Given the description of an element on the screen output the (x, y) to click on. 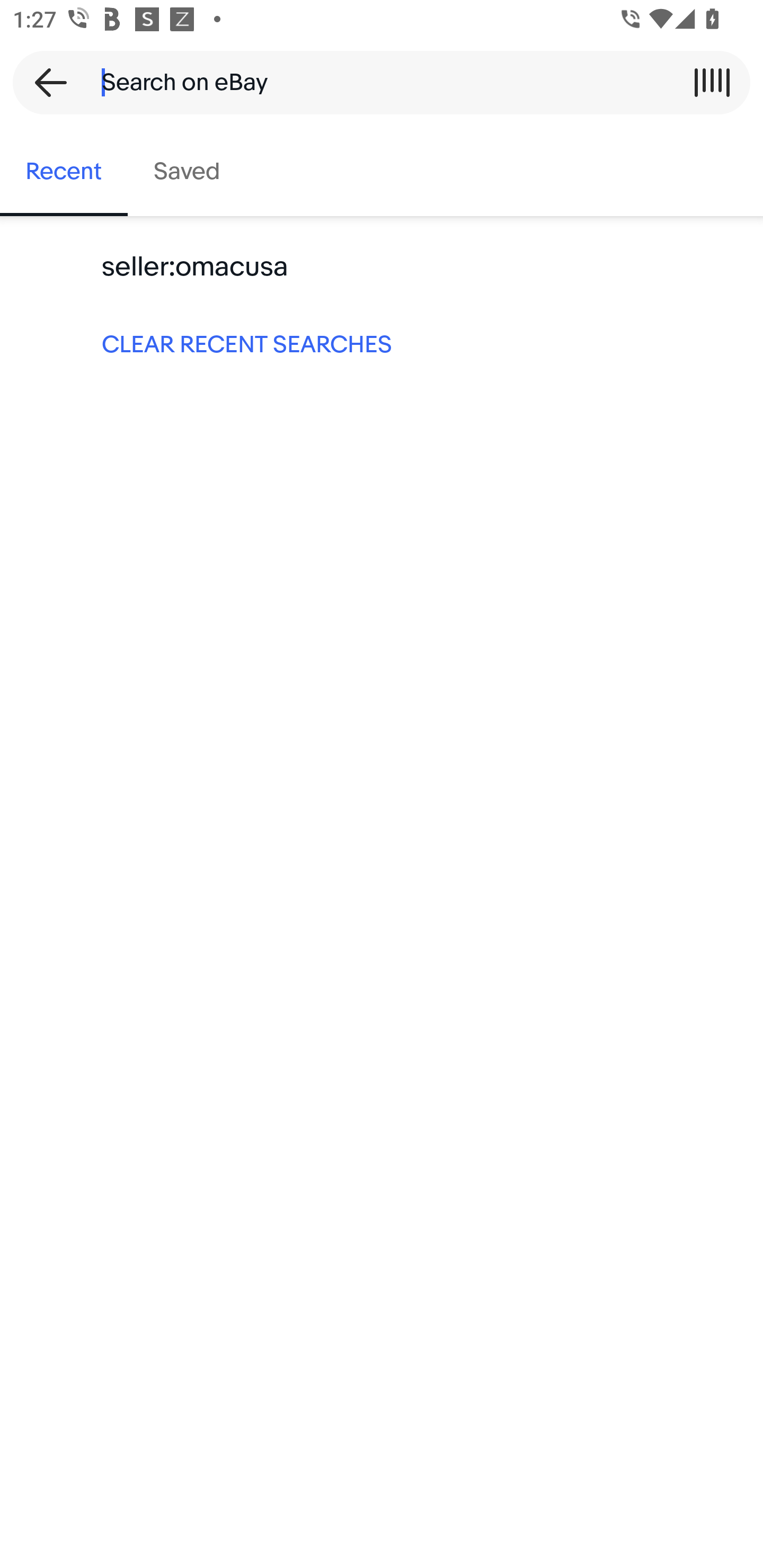
Back (44, 82)
Scan a barcode (711, 82)
Search on eBay (375, 82)
Saved, tab 2 of 2 Saved (186, 171)
seller:omacusa Keyword search seller:omacusa: (381, 266)
CLEAR RECENT SEARCHES (381, 343)
